Given the description of an element on the screen output the (x, y) to click on. 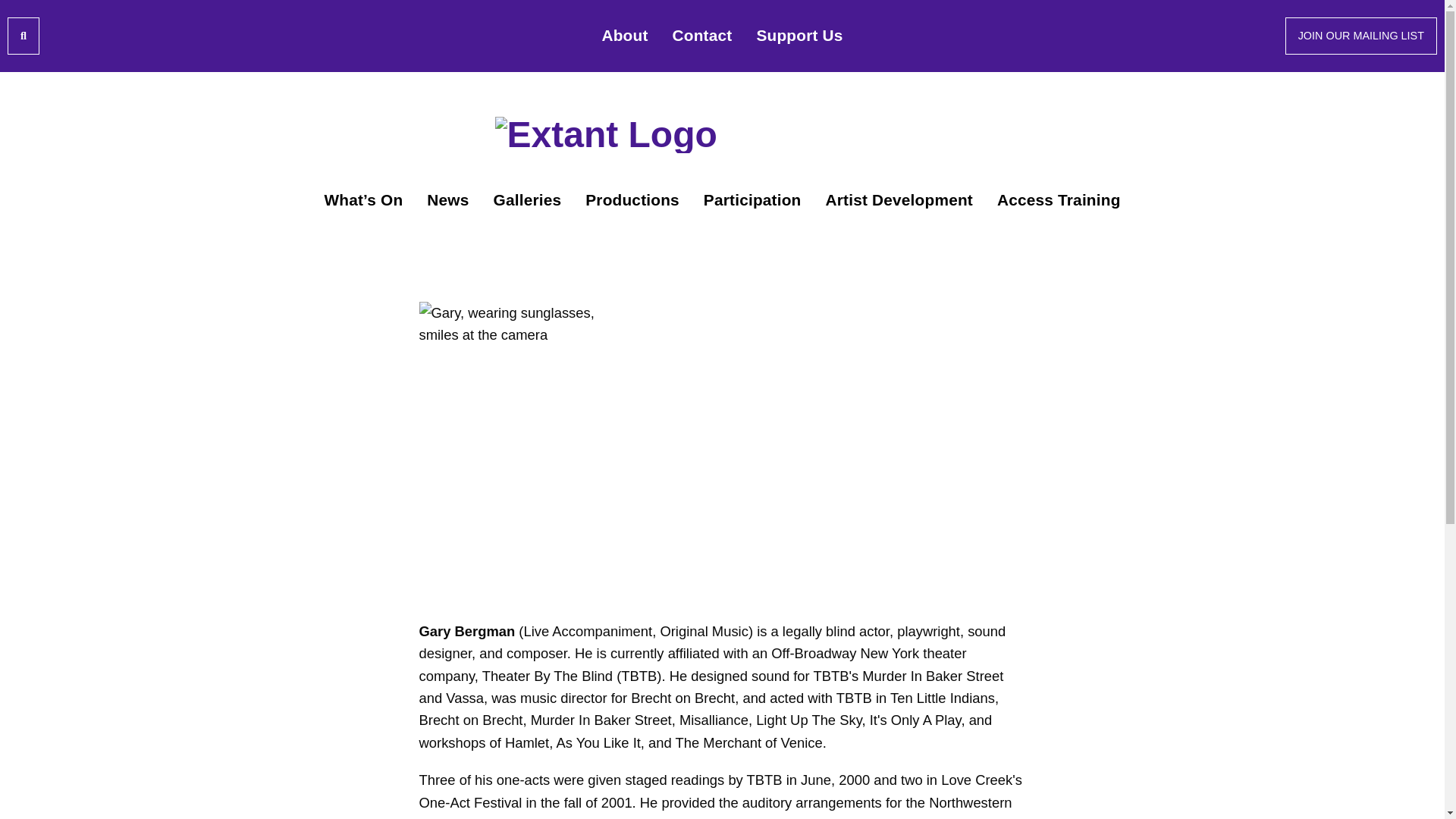
JOIN OUR MAILING LIST (1361, 35)
homepage (722, 133)
News (447, 199)
Participation (752, 199)
EXTANT (722, 133)
Access Training (1058, 199)
Productions (632, 199)
About (624, 35)
Support Us (799, 35)
Artist Development (899, 199)
Contact (702, 35)
Galleries (526, 199)
